Given the description of an element on the screen output the (x, y) to click on. 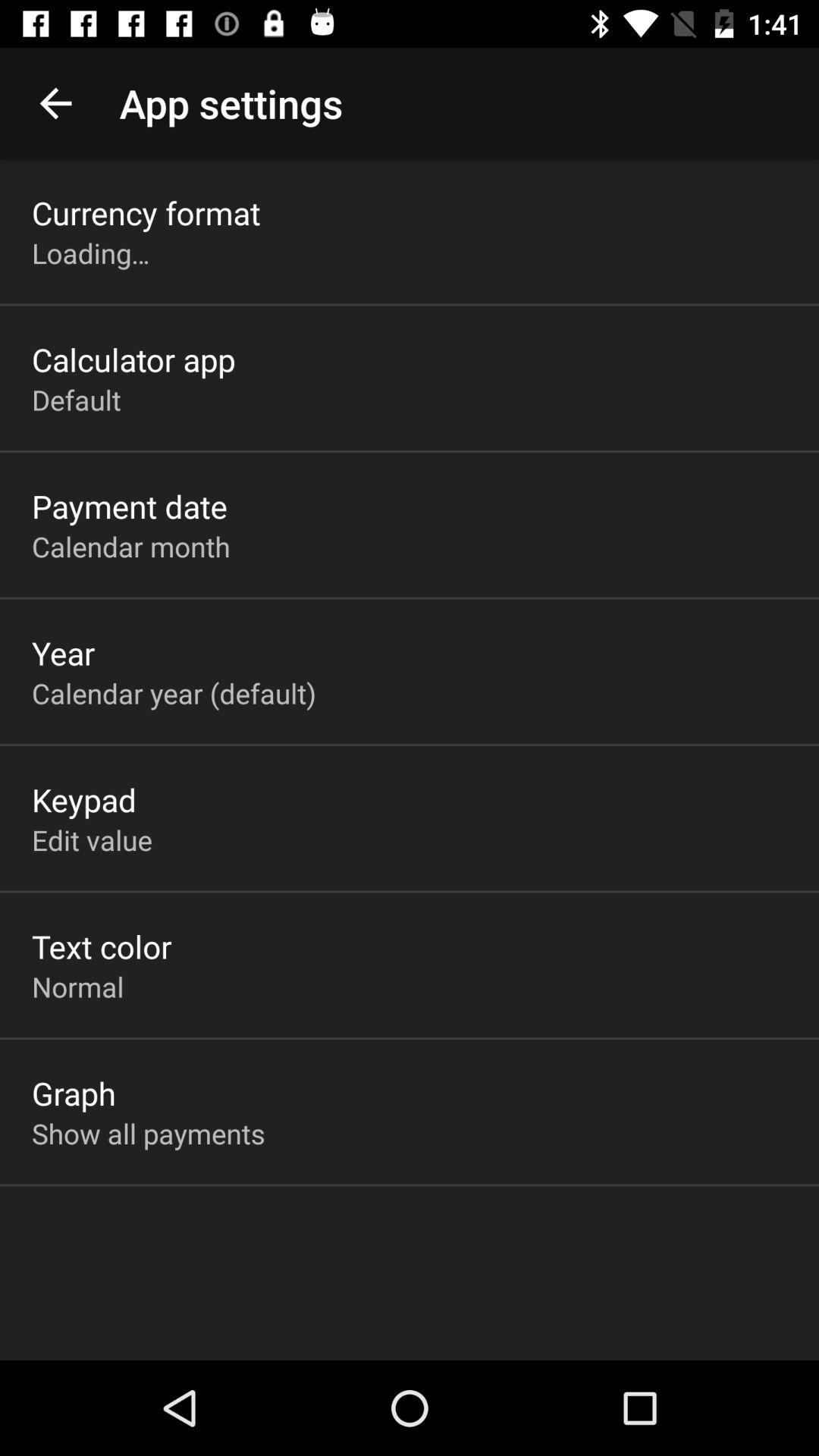
scroll until payment date item (129, 505)
